Given the description of an element on the screen output the (x, y) to click on. 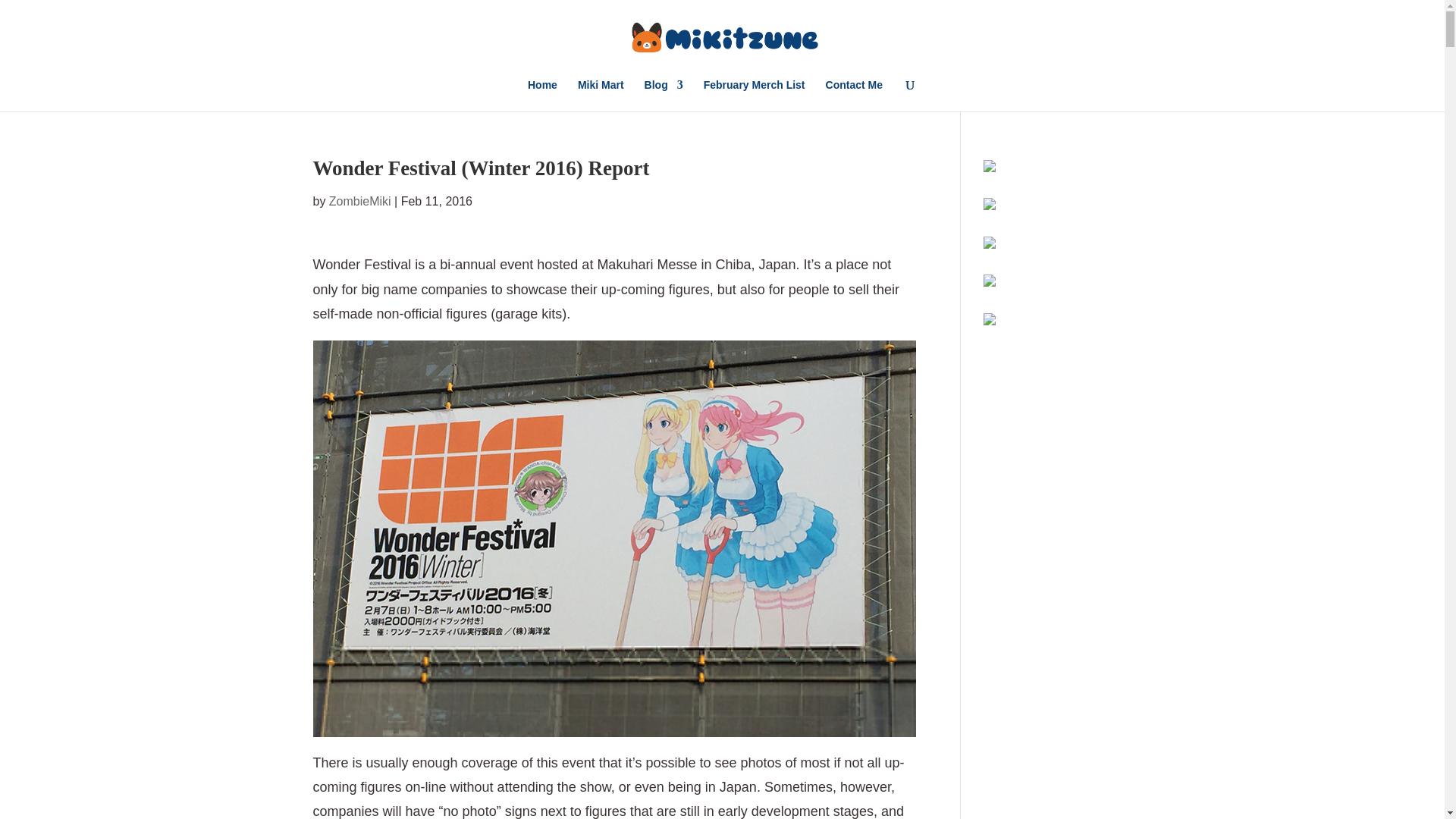
February Merch List (754, 95)
Miki Mart (601, 95)
ZombieMiki (360, 201)
Blog (663, 95)
Contact Me (853, 95)
Home (542, 95)
Posts by ZombieMiki (360, 201)
